Given the description of an element on the screen output the (x, y) to click on. 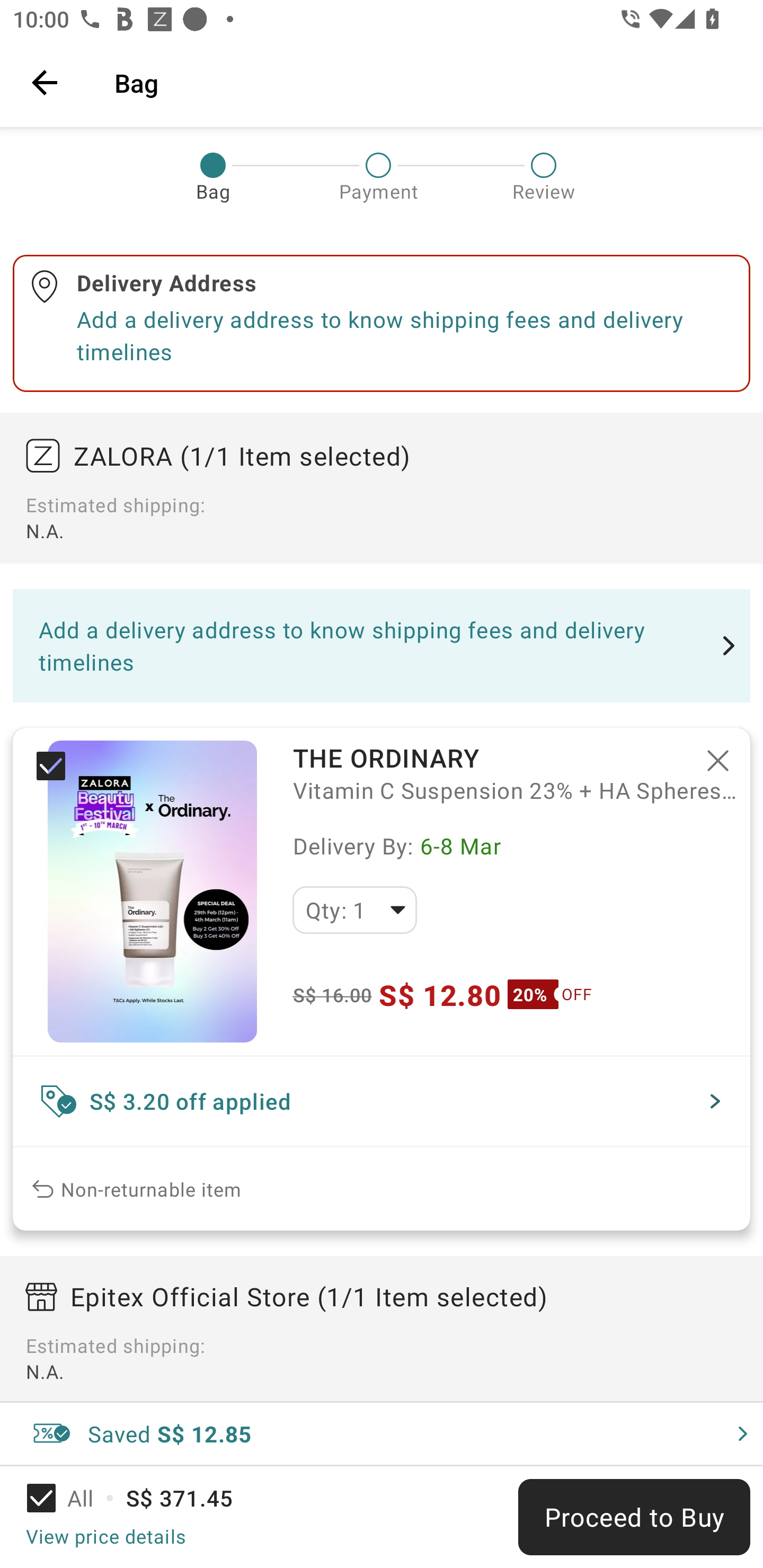
Navigate up (44, 82)
Bag (426, 82)
Qty: 1 (354, 909)
S$ 3.20 off applied (381, 1101)
Saved S$ 12.85 (381, 1433)
All (72, 1497)
Proceed to Buy (634, 1516)
View price details (105, 1535)
